Given the description of an element on the screen output the (x, y) to click on. 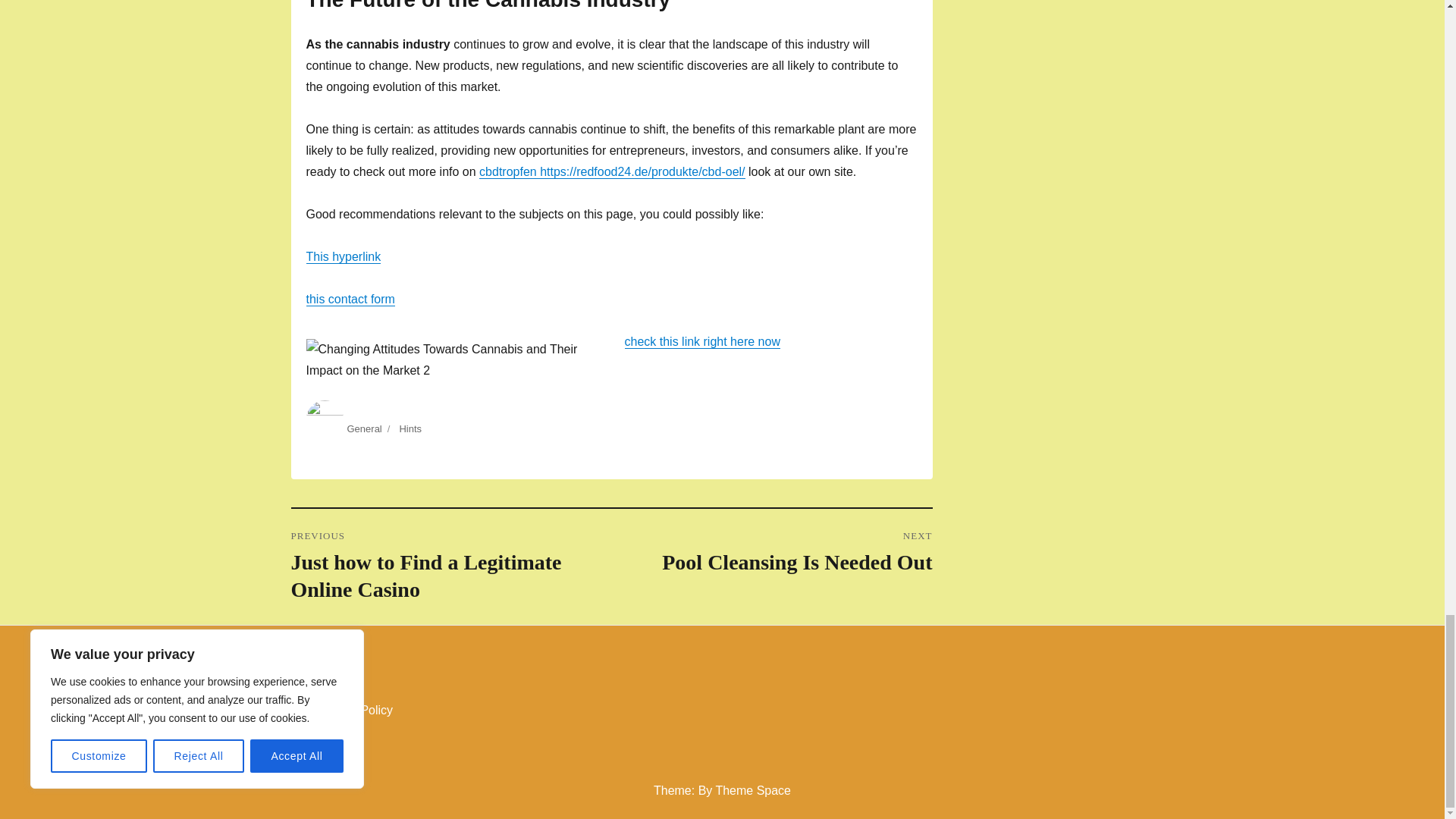
This hyperlink (343, 256)
check this link right here now (702, 341)
this contact form (349, 298)
General (364, 428)
Hints (410, 428)
